Given the description of an element on the screen output the (x, y) to click on. 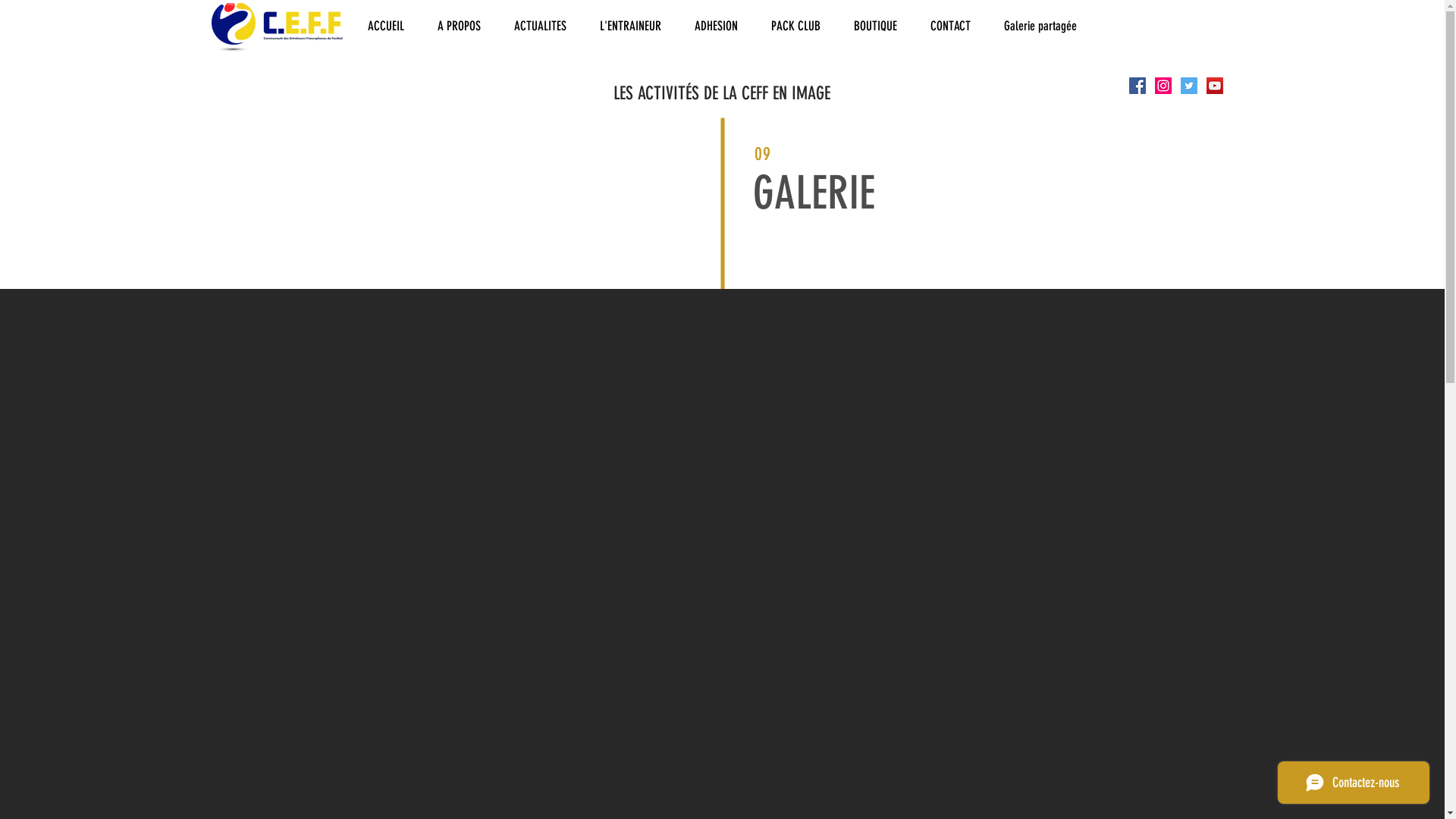
PACK CLUB Element type: text (794, 25)
A PROPOS Element type: text (458, 25)
GALERIE Element type: text (813, 192)
CONTACT Element type: text (949, 25)
ACTUALITES Element type: text (540, 25)
ADHESION Element type: text (715, 25)
BOUTIQUE Element type: text (875, 25)
ACCUEIL Element type: text (385, 25)
Site Search Element type: hover (1175, 27)
L'ENTRAINEUR Element type: text (629, 25)
